Given the description of an element on the screen output the (x, y) to click on. 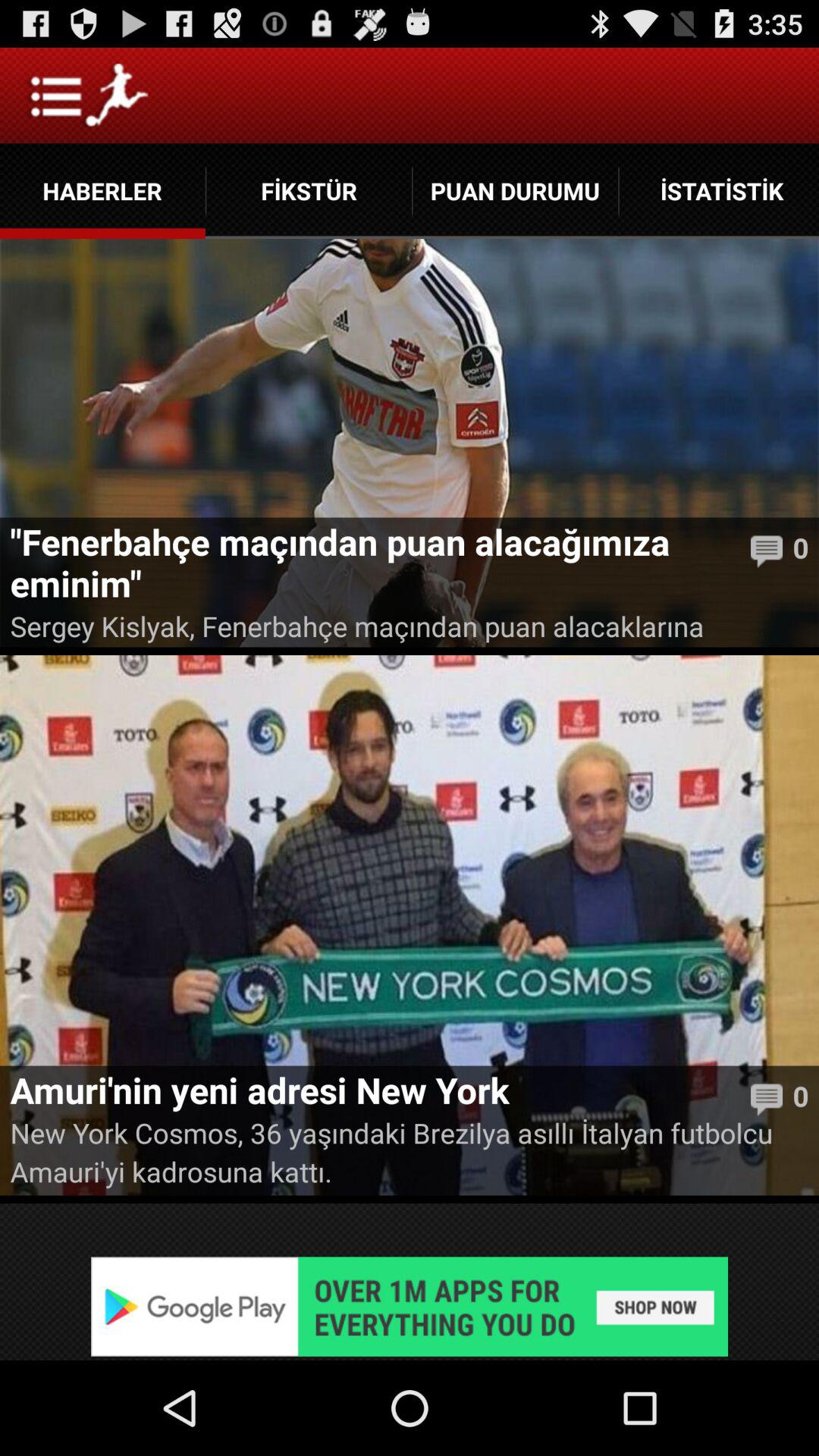
turn on the app next to puan durumu item (308, 190)
